Given the description of an element on the screen output the (x, y) to click on. 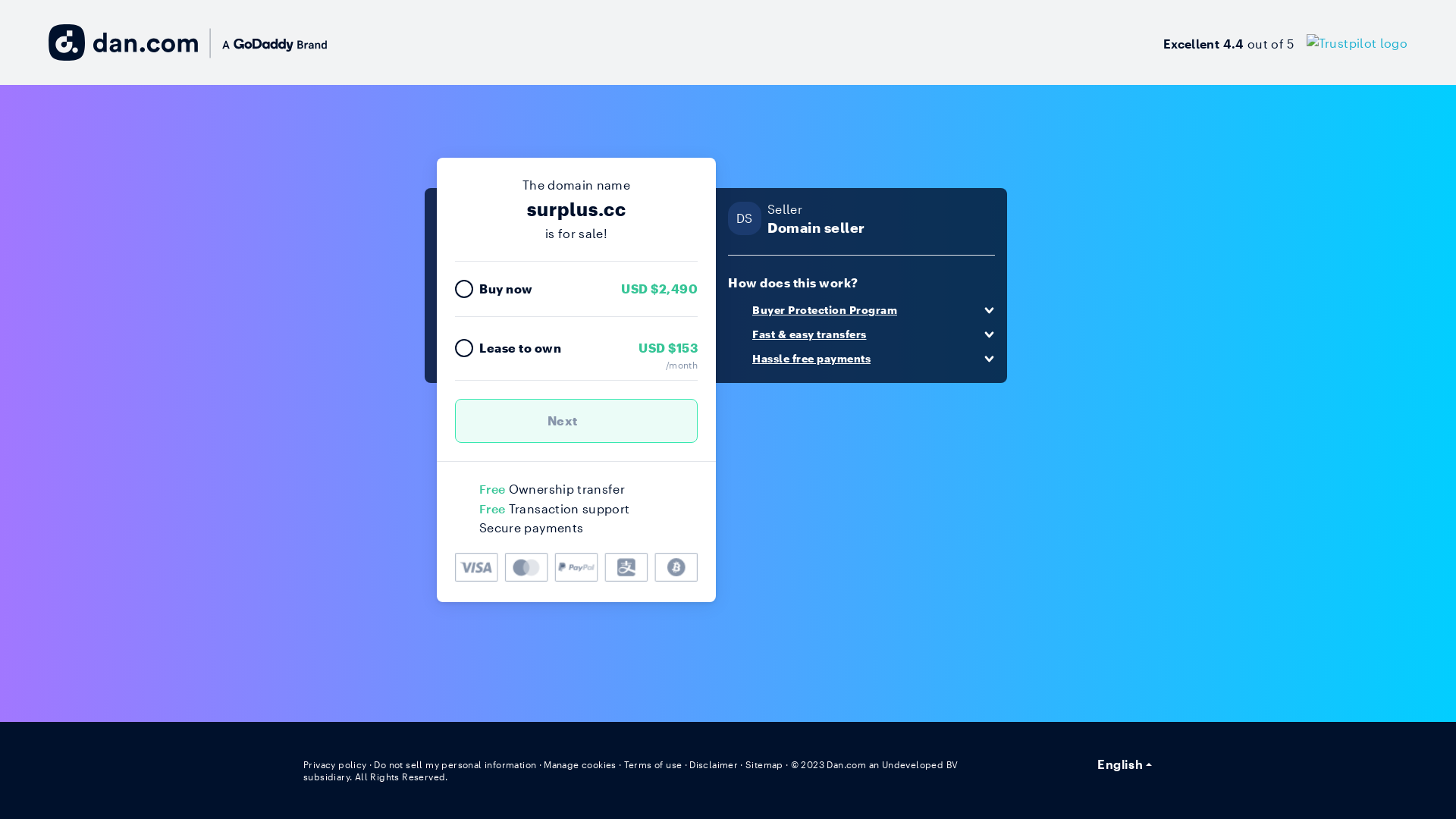
English Element type: text (1124, 764)
Manage cookies Element type: text (579, 764)
Privacy policy Element type: text (335, 764)
Disclaimer Element type: text (713, 764)
Next
) Element type: text (576, 420)
Do not sell my personal information Element type: text (454, 764)
Sitemap Element type: text (764, 764)
Terms of use Element type: text (653, 764)
Excellent 4.4 out of 5 Element type: text (1285, 42)
